Given the description of an element on the screen output the (x, y) to click on. 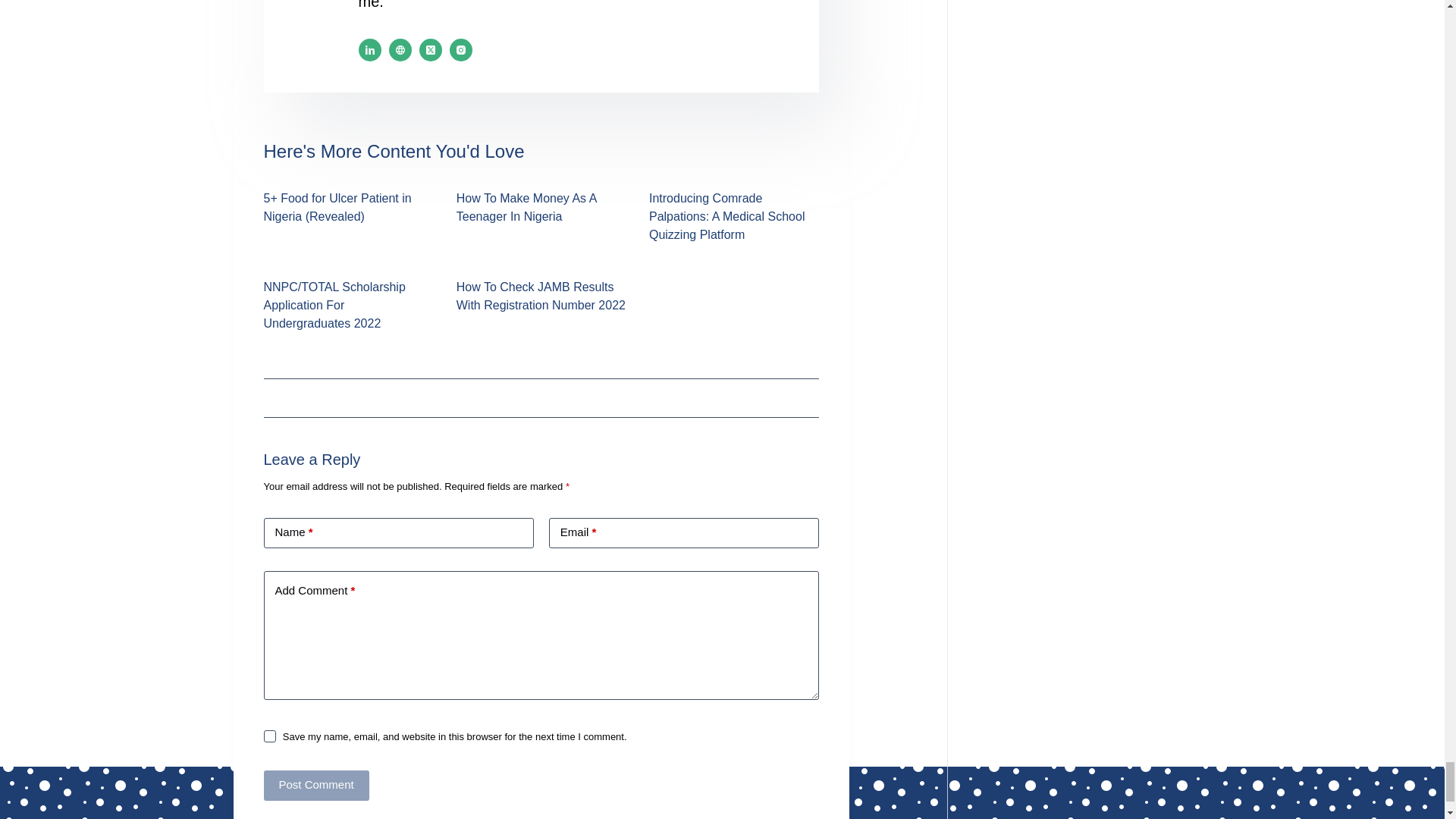
yes (269, 736)
